Given the description of an element on the screen output the (x, y) to click on. 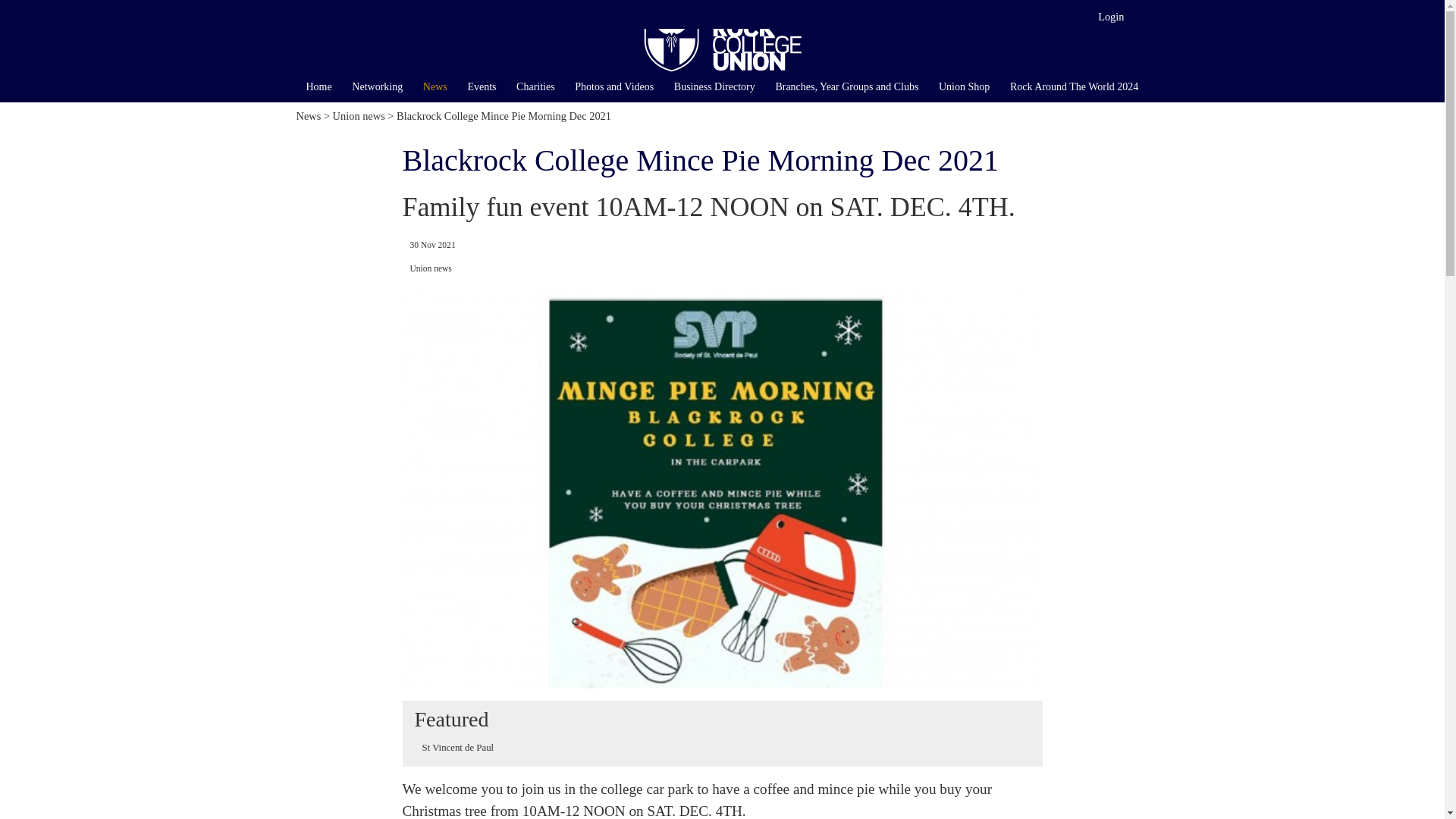
Union news (430, 267)
Photos and Videos (614, 86)
Home (318, 86)
Union news (359, 115)
News (434, 86)
Business Directory (714, 86)
Networking (377, 86)
Union Shop (964, 86)
St Vincent de Paul (457, 747)
Branches, Year Groups and Clubs (846, 86)
